Given the description of an element on the screen output the (x, y) to click on. 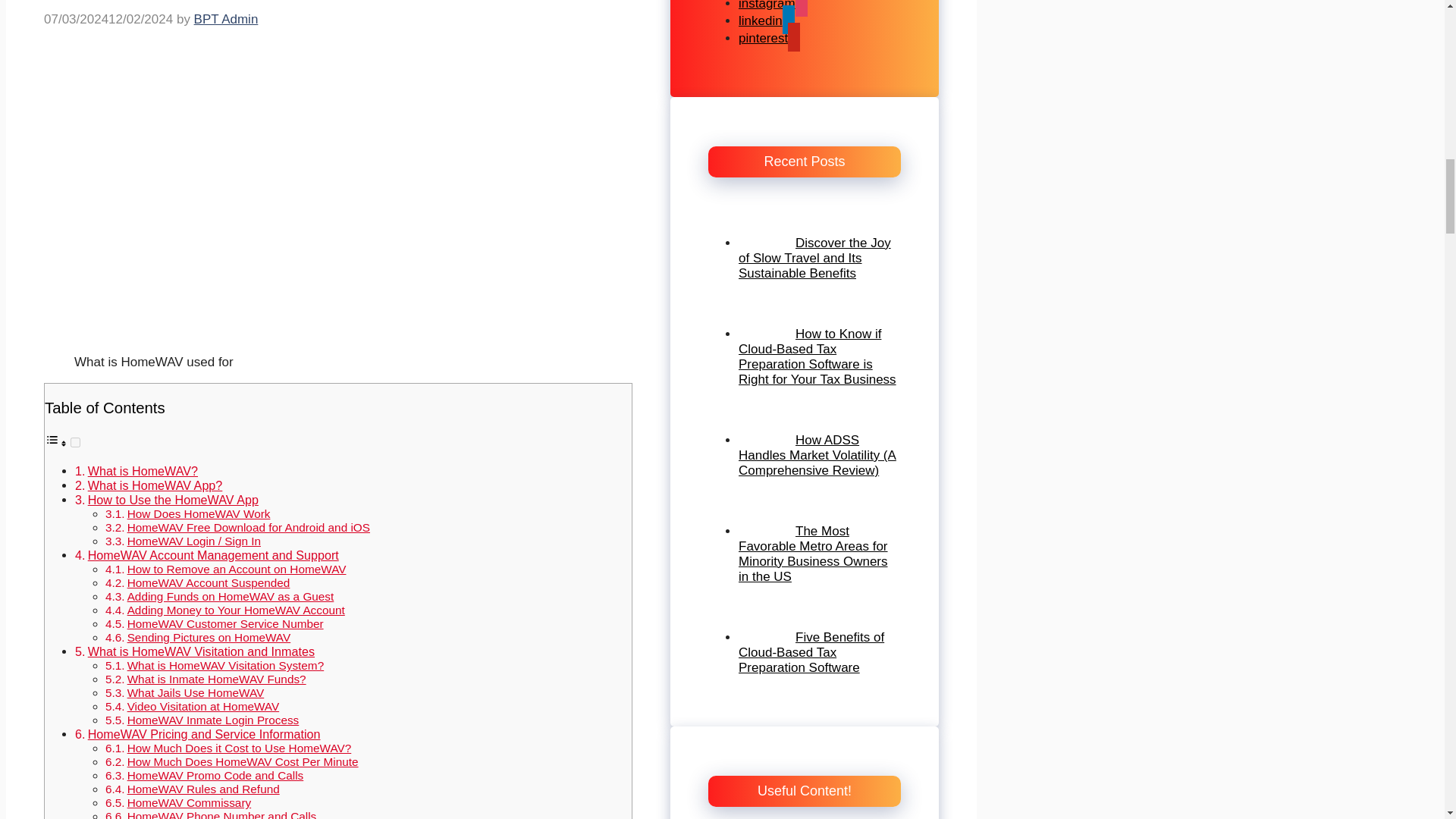
What is HomeWAV App? (154, 485)
HomeWAV Free Download for Android and iOS (248, 526)
on (74, 442)
Adding Funds on HomeWAV as a Guest (231, 595)
HomeWAV Account Management and Support (213, 554)
How to Use the HomeWAV App (173, 499)
How to Remove an Account on HomeWAV (237, 568)
What is HomeWAV App? (154, 485)
HomeWAV Account Suspended (208, 582)
BPT Admin (226, 19)
